Given the description of an element on the screen output the (x, y) to click on. 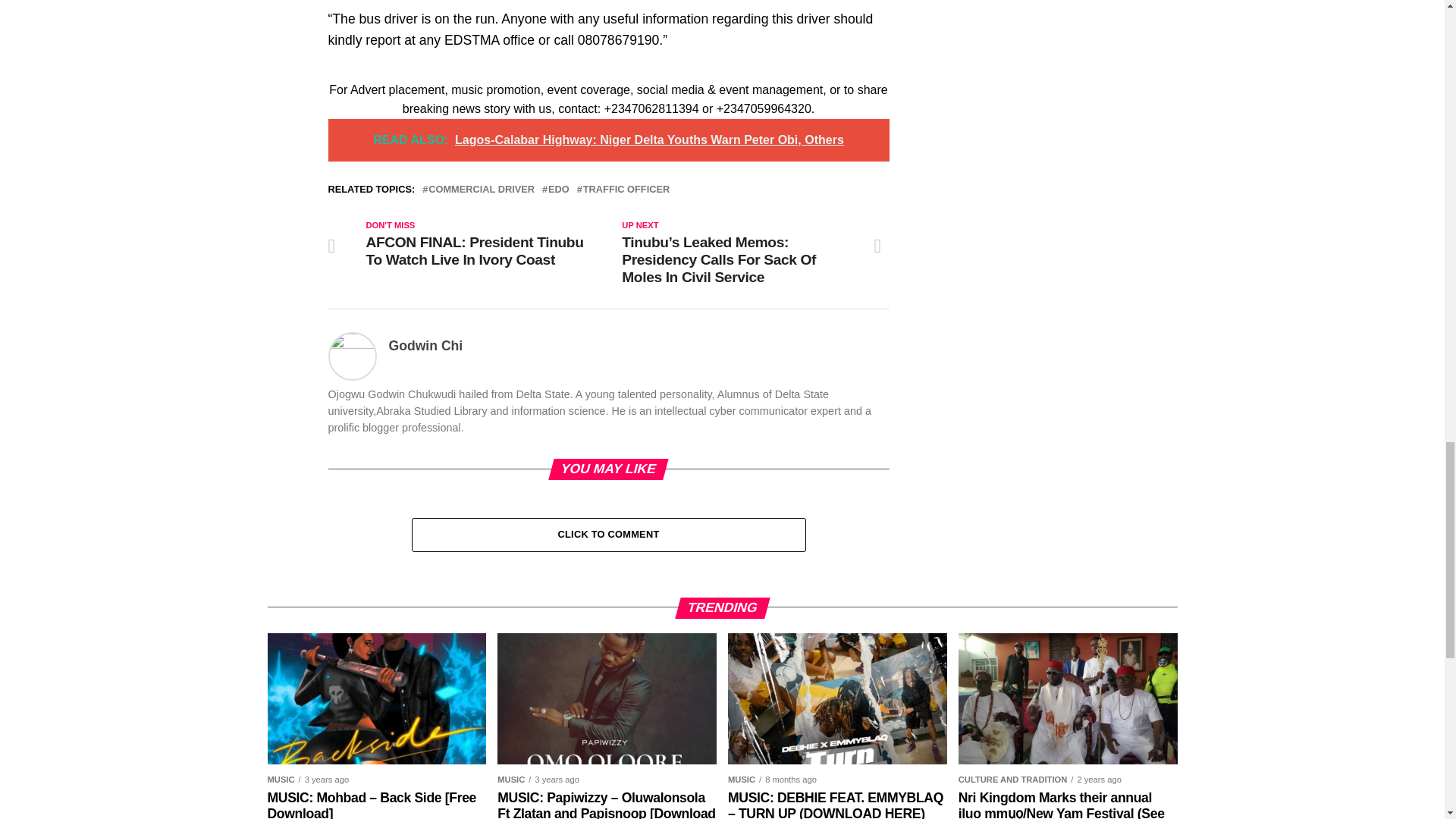
Posts by Godwin Chi (425, 345)
